Given the description of an element on the screen output the (x, y) to click on. 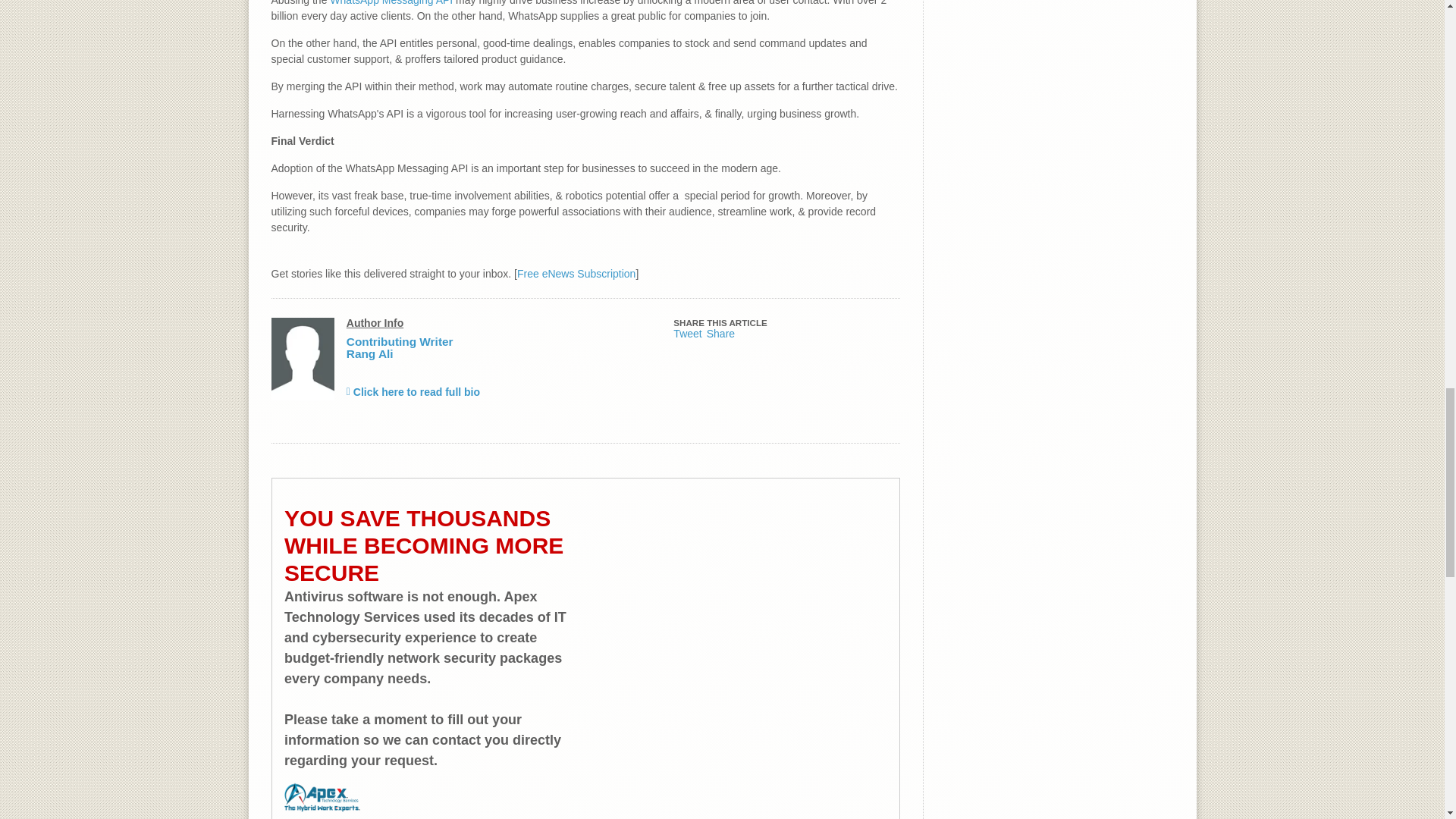
WhatsApp Messaging API (391, 2)
Click here to read full bio (413, 391)
Tweet (686, 333)
Rang Ali (369, 353)
Free eNews Subscription (575, 273)
Share (720, 333)
Contributing Writer (399, 341)
